Given the description of an element on the screen output the (x, y) to click on. 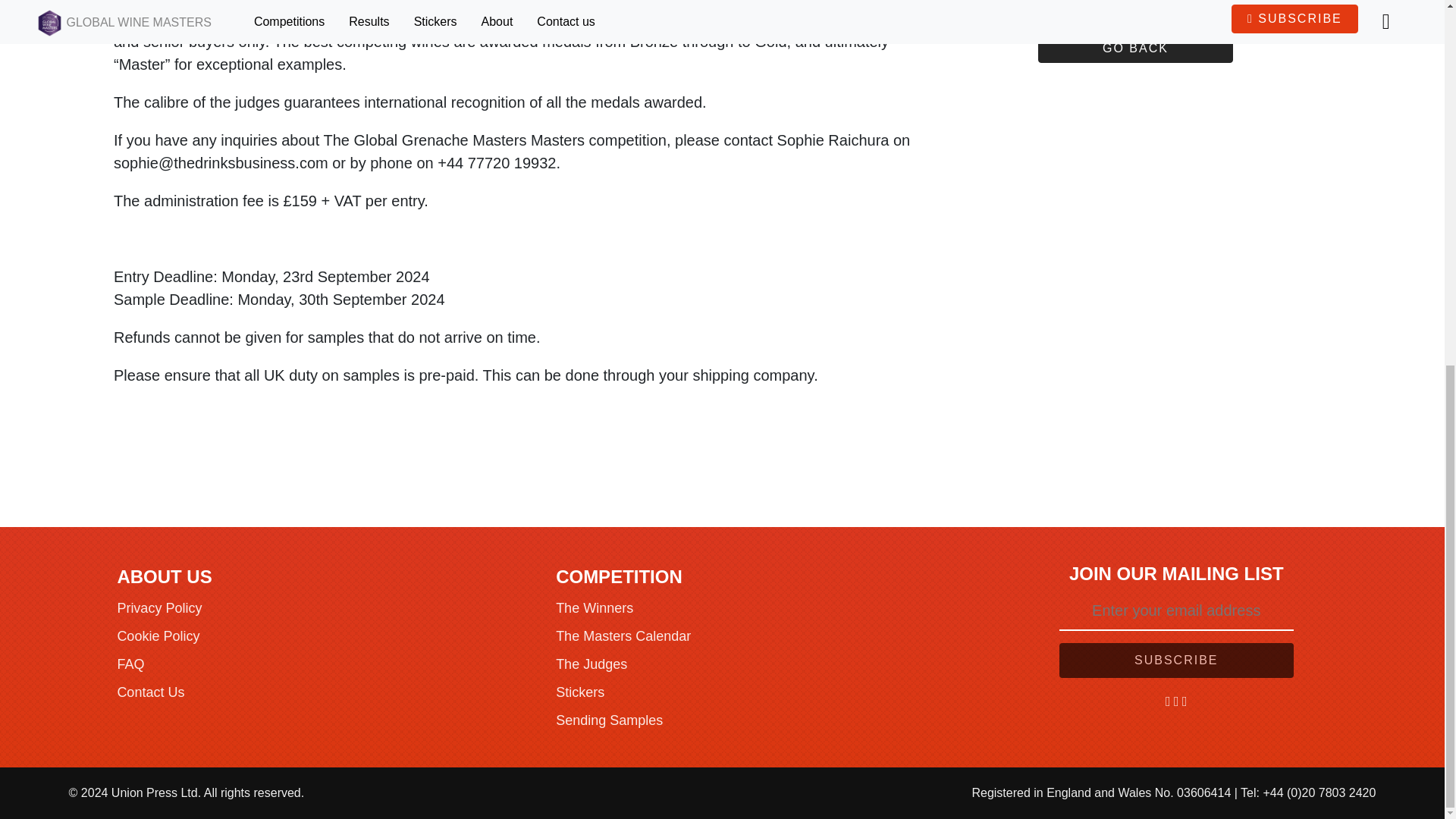
GO BACK (1135, 48)
Sending Samples (609, 720)
Privacy Policy (159, 607)
FAQ (130, 663)
The Masters Calendar (623, 635)
SUBSCRIBE (1176, 660)
ABOUT US (163, 576)
The Winners (594, 607)
Contact Us (150, 692)
COMPETITION (619, 576)
Cookie Policy (157, 635)
The Judges (591, 663)
Stickers (580, 692)
ENTER NOW (1135, 8)
